Given the description of an element on the screen output the (x, y) to click on. 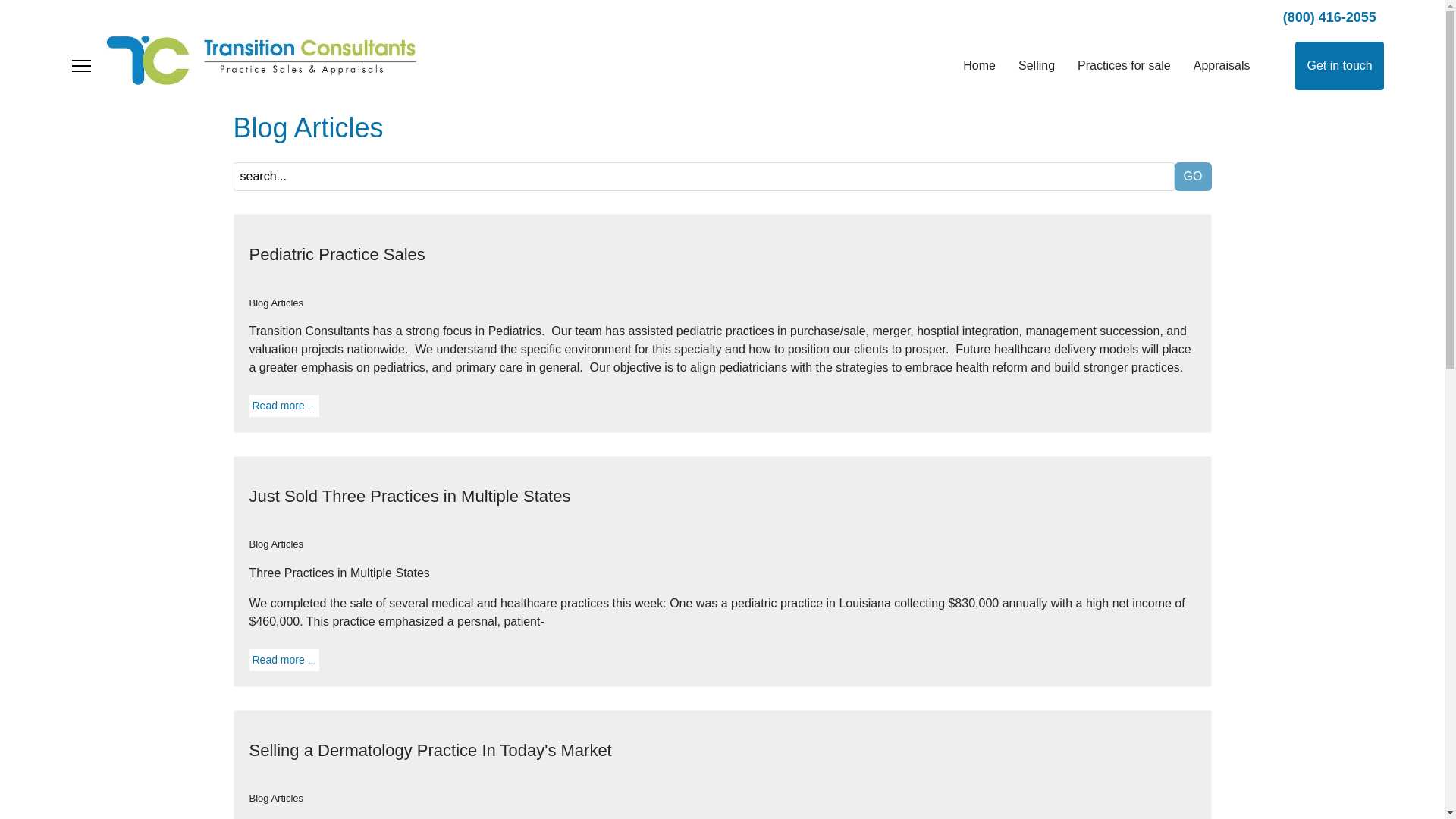
Category: Blog Articles (275, 303)
Blog Articles (308, 127)
Selling a Dermatology Practice In Today's Market (429, 750)
search... (703, 176)
search... (703, 176)
Read more ... (283, 405)
Read more ... (283, 659)
Category: Blog Articles (275, 798)
Selling (1036, 66)
Blog Articles (275, 797)
Get in touch (1339, 65)
Just Sold Three Practices in Multiple States (409, 496)
Appraisals (1222, 66)
Pediatric Practice Sales (336, 253)
Home (979, 66)
